Given the description of an element on the screen output the (x, y) to click on. 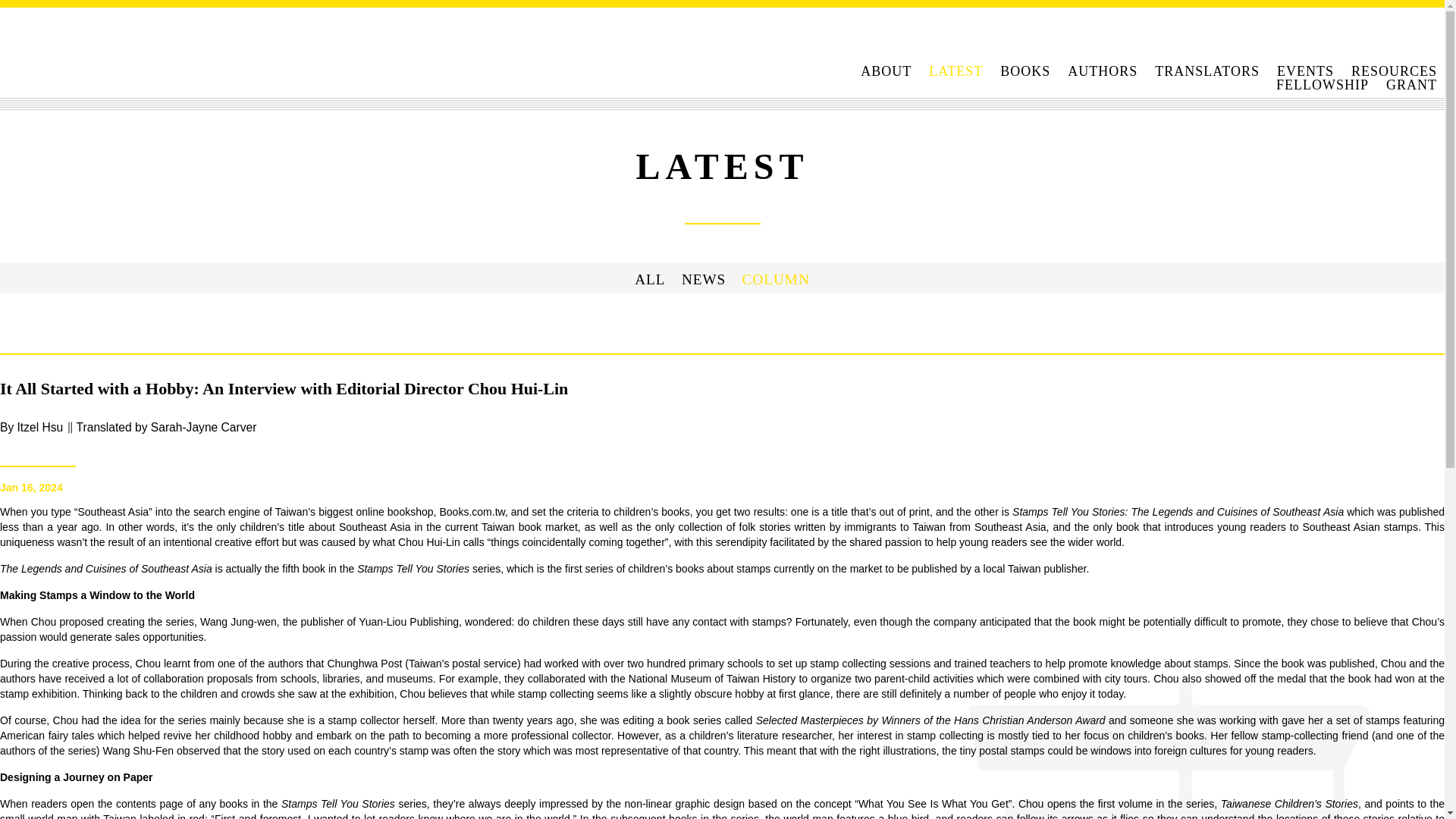
Books.com.tw (472, 511)
LATEST (955, 70)
ABOUT (885, 70)
FELLOWSHIP (1322, 84)
BOOKS (1024, 70)
NEWS (703, 279)
GRANT (1411, 84)
ALL (649, 279)
AUTHORS (1102, 70)
